Given the description of an element on the screen output the (x, y) to click on. 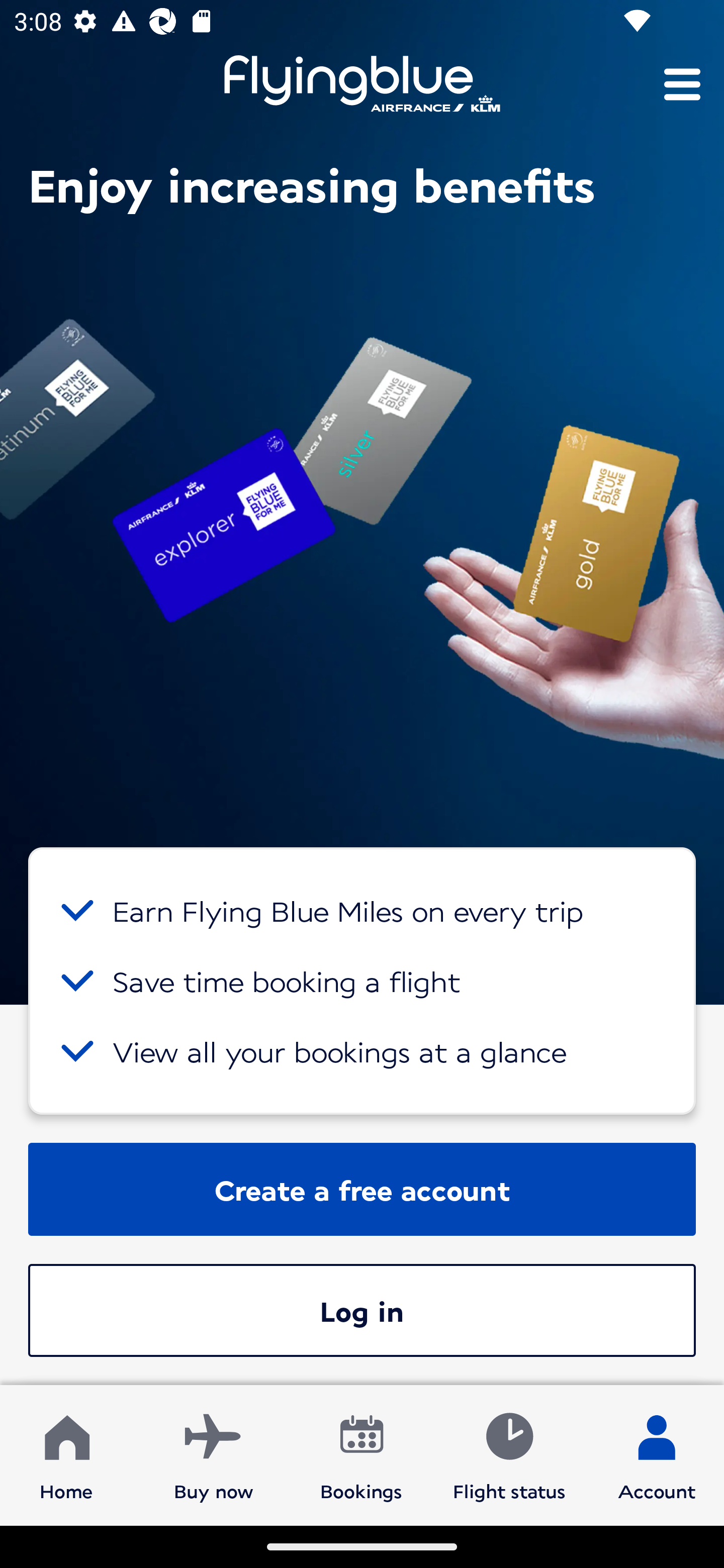
Create a free account (361, 1189)
Log in (361, 1309)
Home (66, 1454)
Buy now (213, 1454)
Bookings (361, 1454)
Flight status (509, 1454)
